Given the description of an element on the screen output the (x, y) to click on. 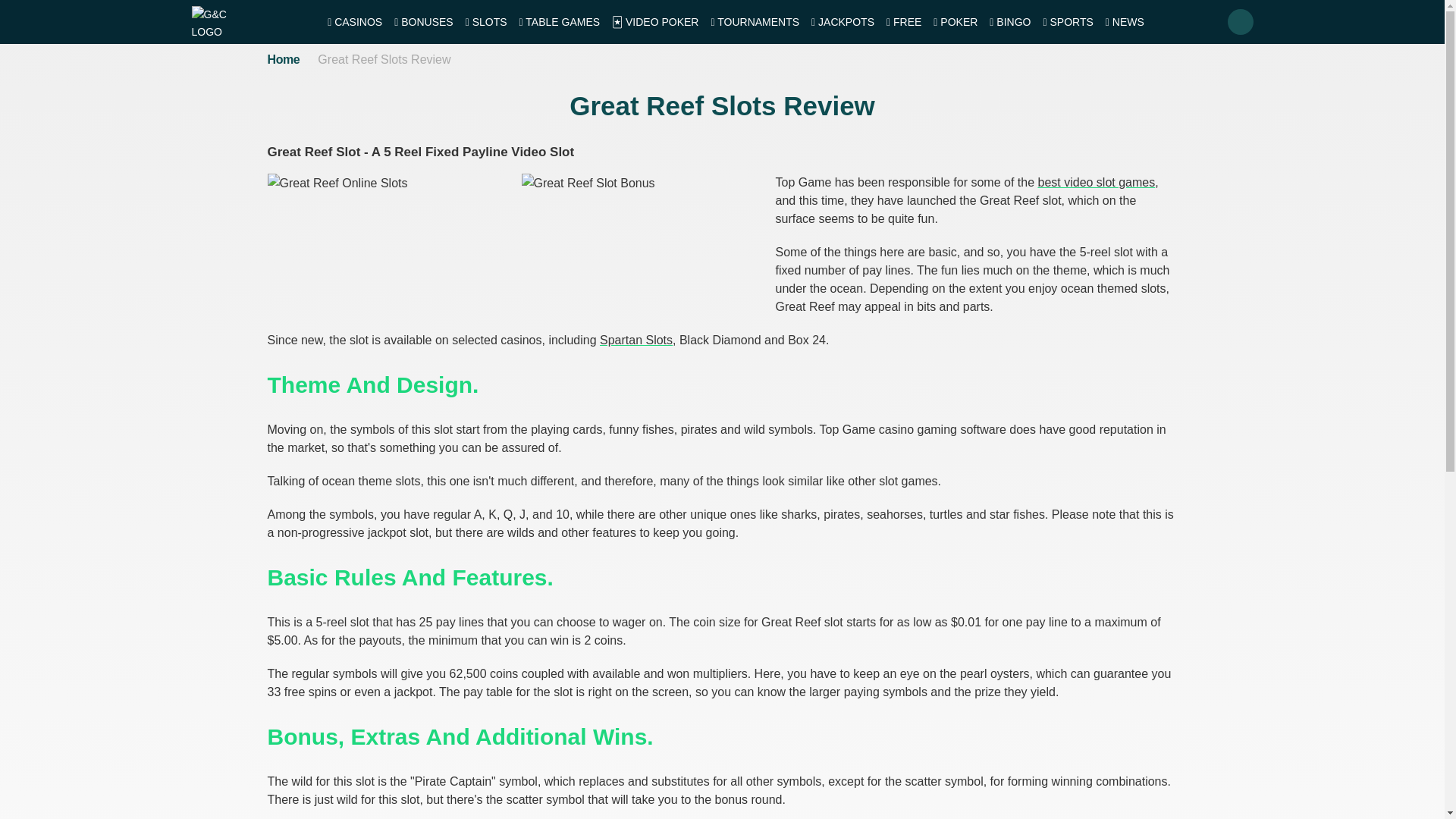
The Great Reef slot game (387, 249)
The Great Reef slot bonus (642, 249)
